Given the description of an element on the screen output the (x, y) to click on. 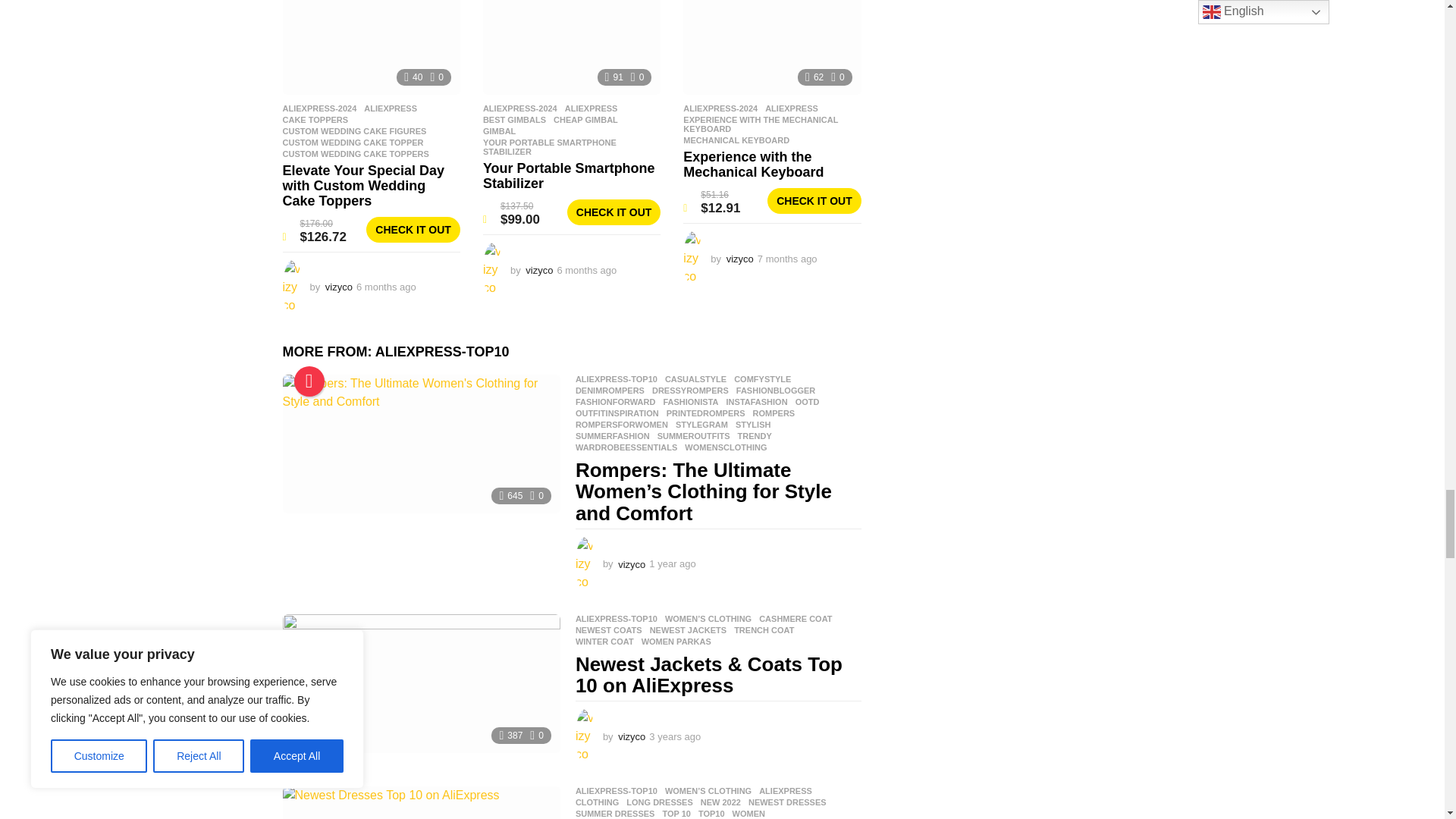
Elevate Your Special Day with Custom Wedding Cake Toppers (371, 47)
Your Portable Smartphone Stabilizer (572, 47)
Experience with the Mechanical Keyboard (771, 47)
Popular (309, 381)
Newest Dresses Top 10 on AliExpress (420, 802)
